Given the description of an element on the screen output the (x, y) to click on. 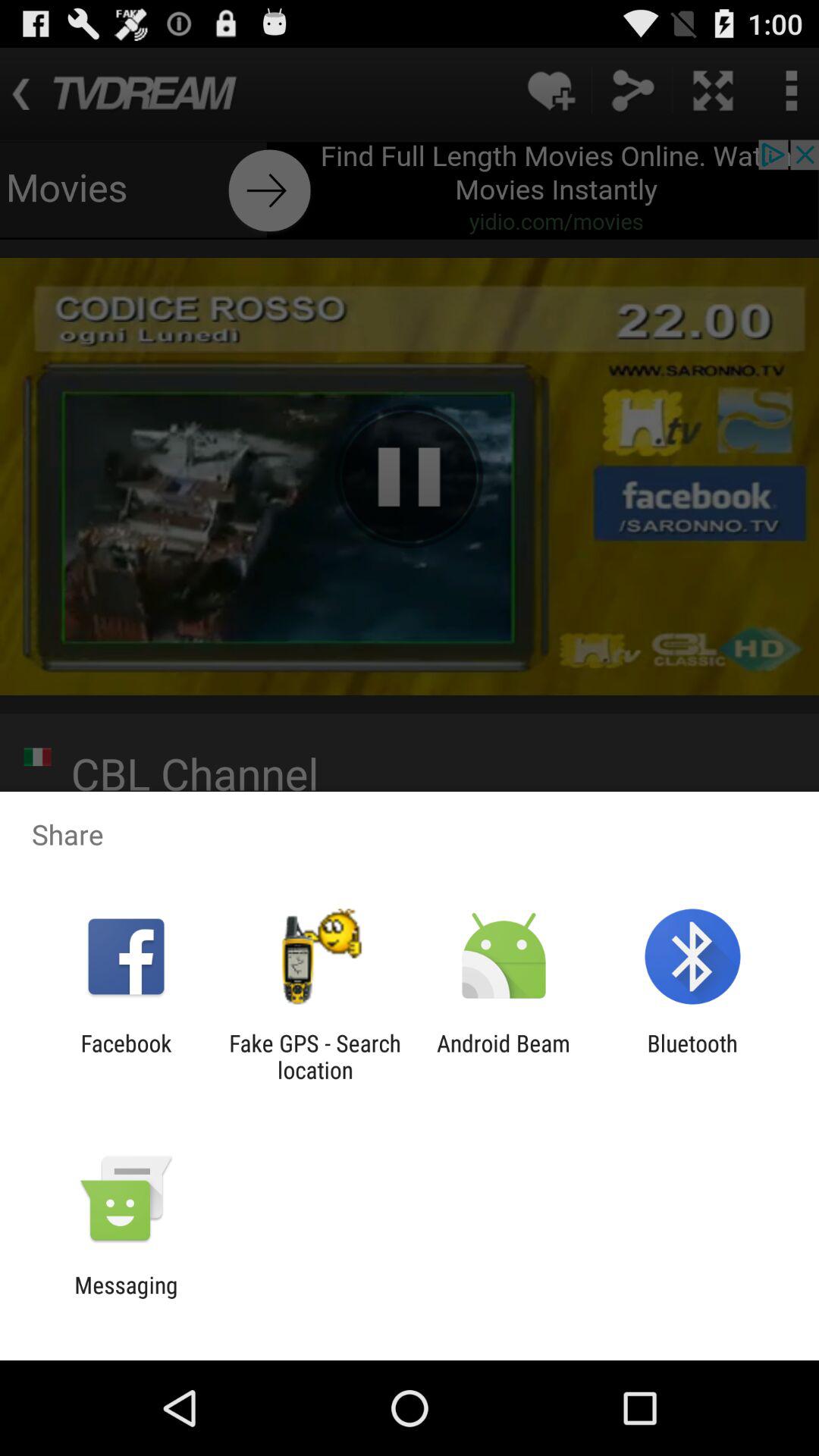
swipe until android beam app (503, 1056)
